Given the description of an element on the screen output the (x, y) to click on. 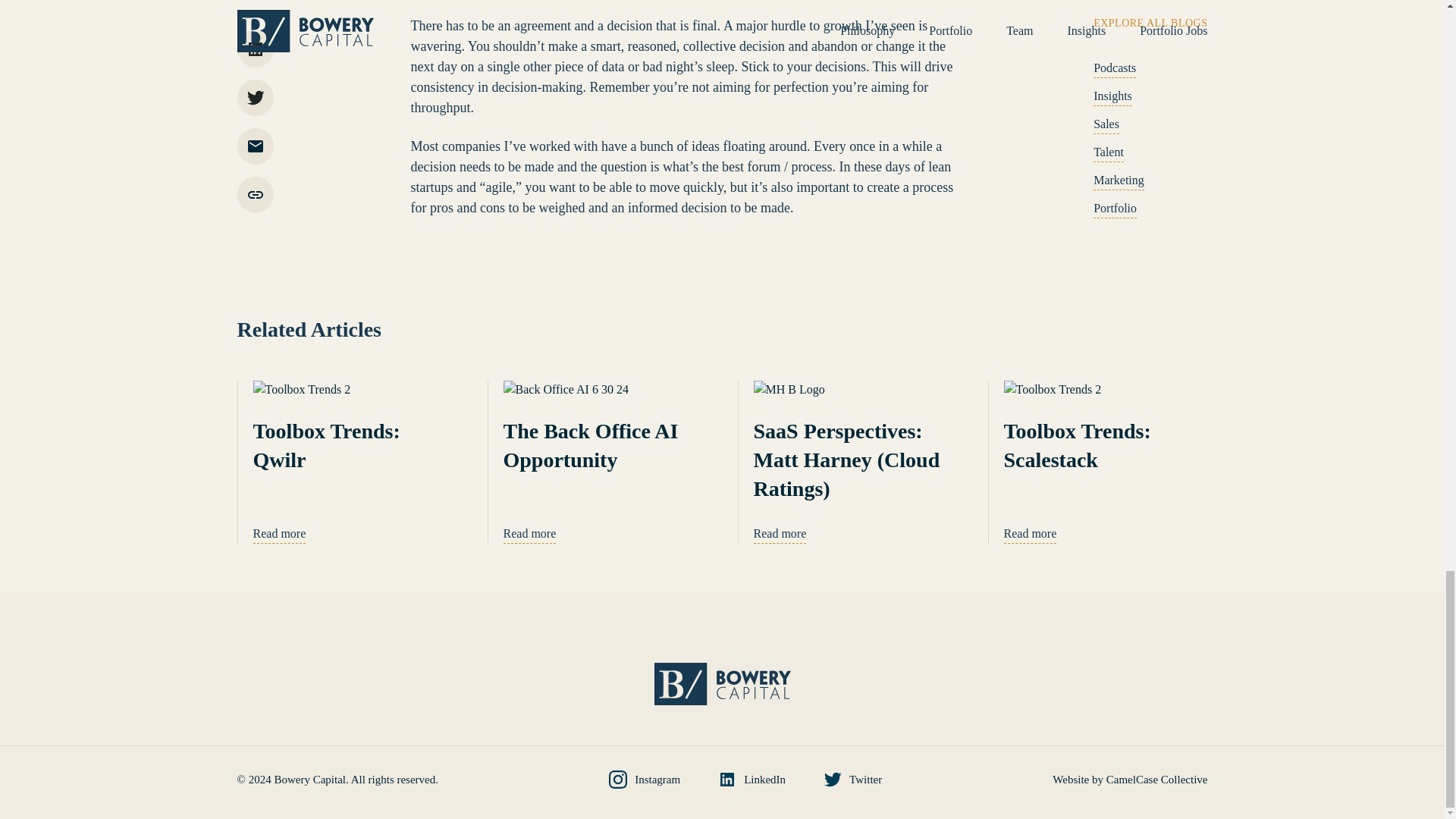
Return home (721, 683)
Website by CamelCase Collective (1129, 778)
